Given the description of an element on the screen output the (x, y) to click on. 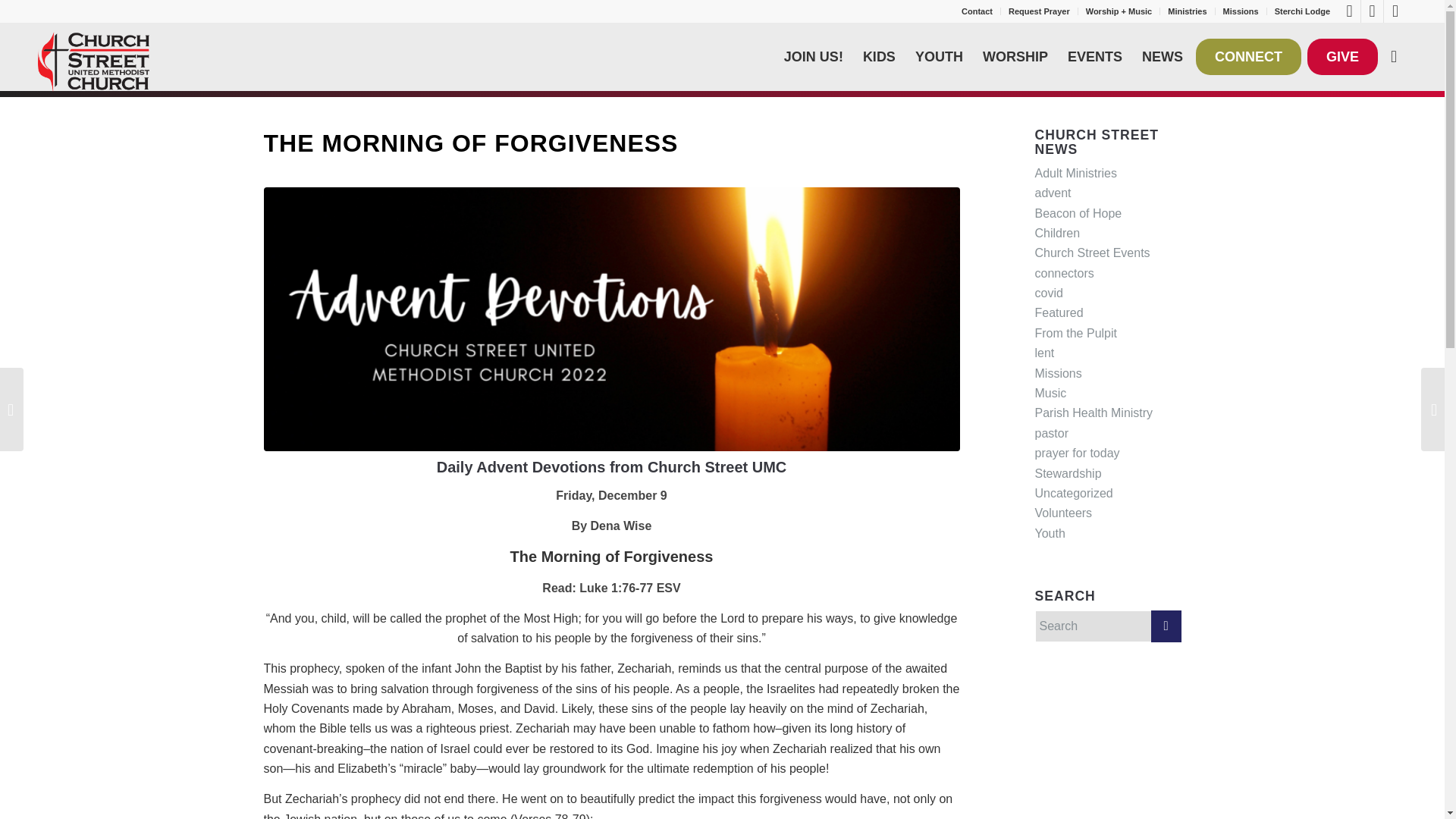
WORSHIP (1015, 56)
NEWS (1162, 56)
Facebook (1348, 11)
JOIN US! (813, 56)
CONNECT (1248, 56)
Missions (1241, 11)
Sterchi Lodge (1302, 11)
Instagram (1395, 11)
